Given the description of an element on the screen output the (x, y) to click on. 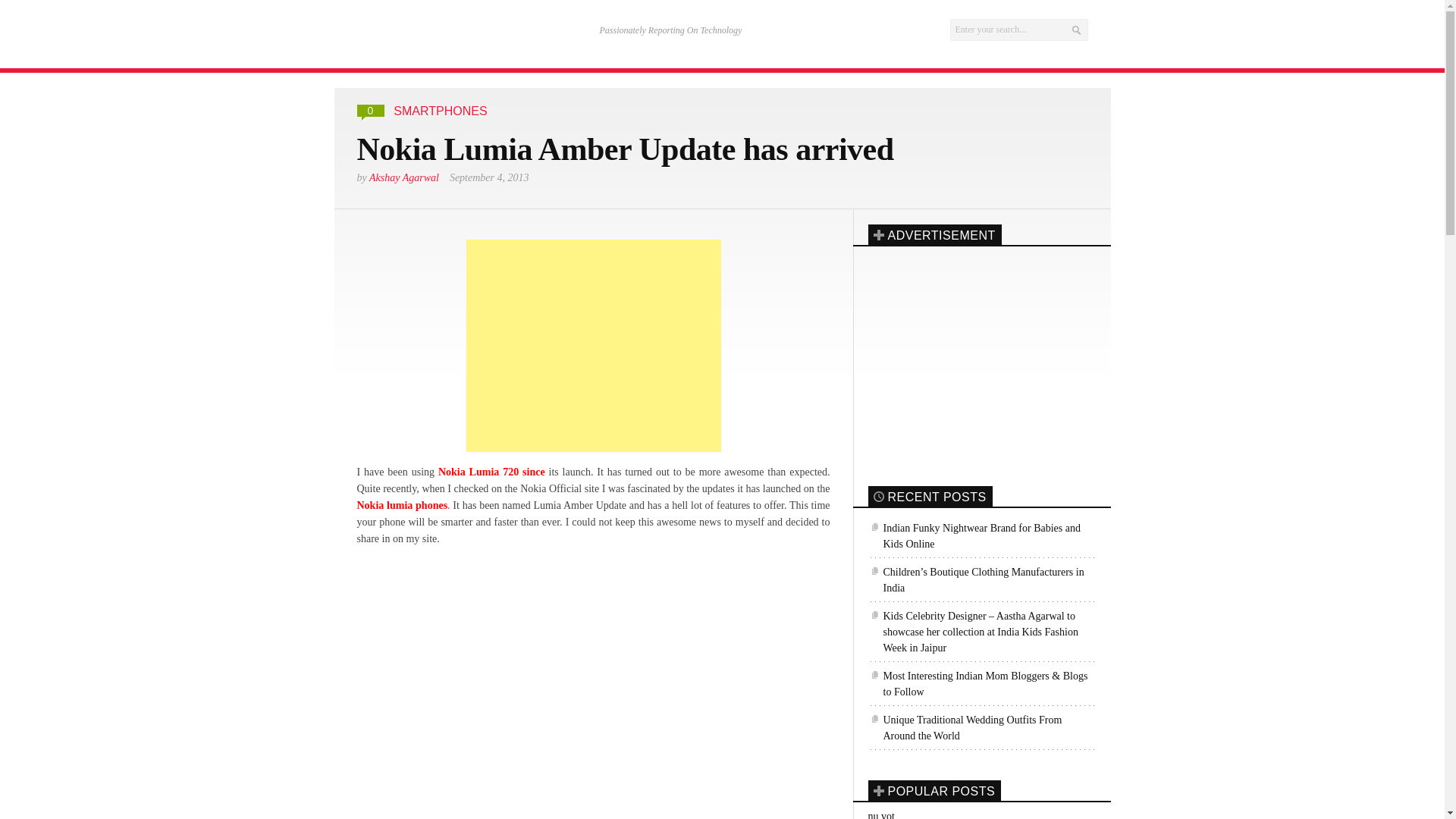
0 (370, 110)
Nokia lumia phones. (402, 505)
Enter your search... (1018, 29)
Akshay Agarwal (404, 176)
nu vot (880, 814)
nu vot (880, 814)
Unique Traditional Wedding Outfits From Around the World (980, 726)
Posts by Akshay Agarwal (404, 176)
Indian Funky Nightwear Brand for Babies and Kids Online (980, 536)
SMARTPHONES (439, 110)
